Given the description of an element on the screen output the (x, y) to click on. 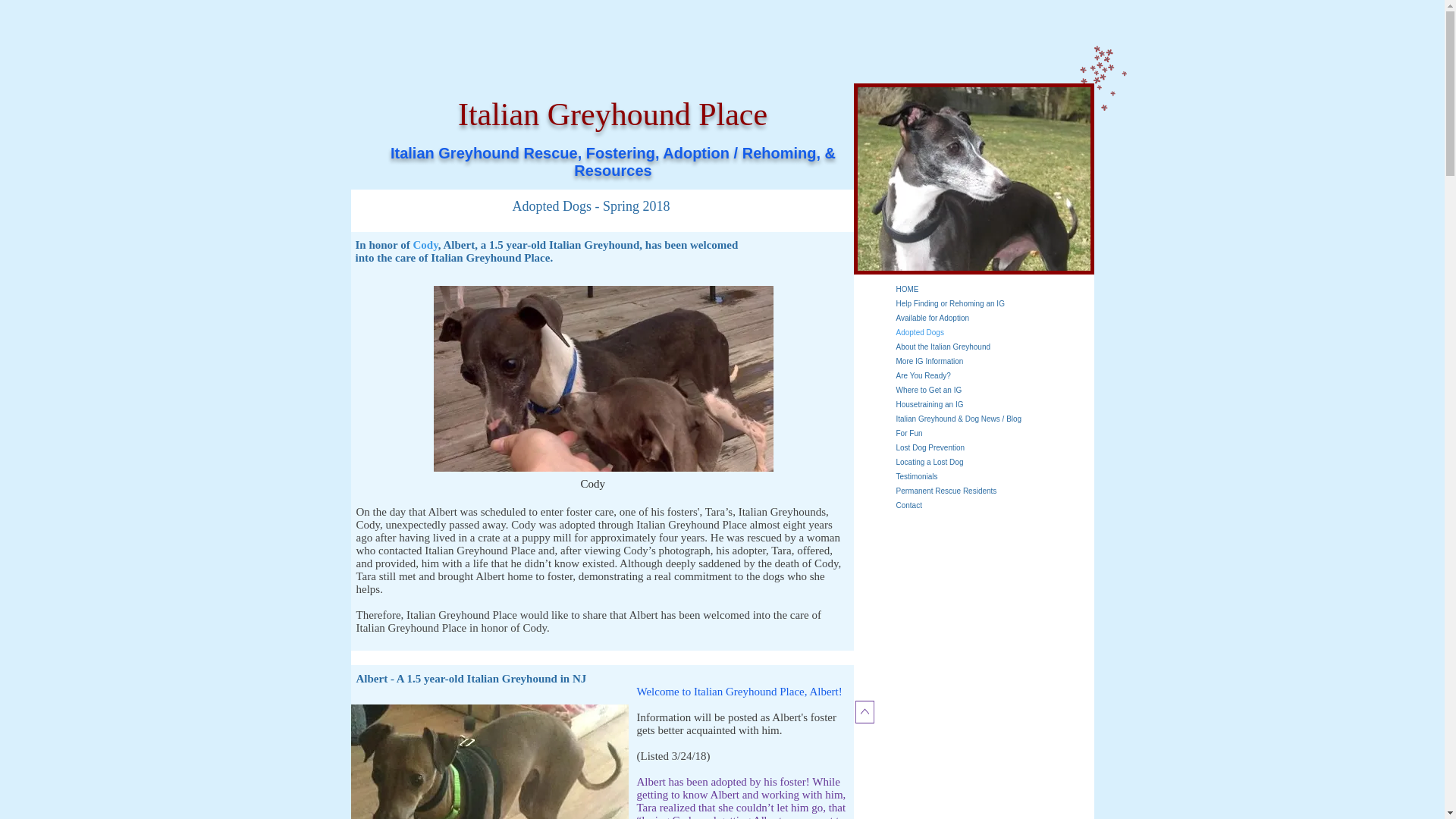
Available for Adoption (995, 318)
Adopted Dogs (995, 332)
HOME (995, 288)
Help Finding or Rehoming an IG (995, 303)
